Given the description of an element on the screen output the (x, y) to click on. 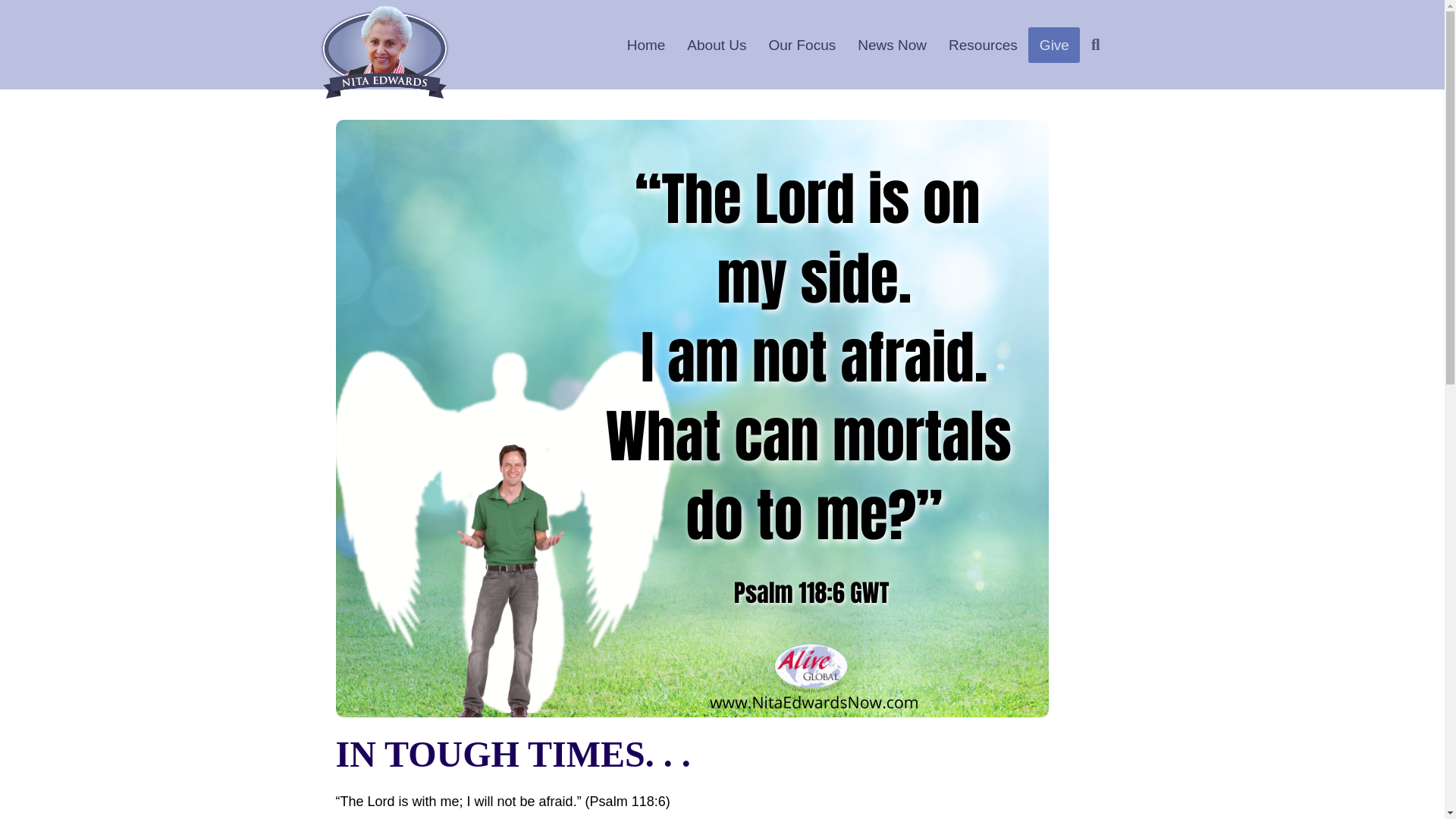
Home (646, 45)
Resources (982, 45)
Give (1054, 45)
About Us (717, 45)
Our Focus (802, 45)
SEARCH (1098, 44)
News Now (892, 45)
oval-header-logo (383, 51)
